Given the description of an element on the screen output the (x, y) to click on. 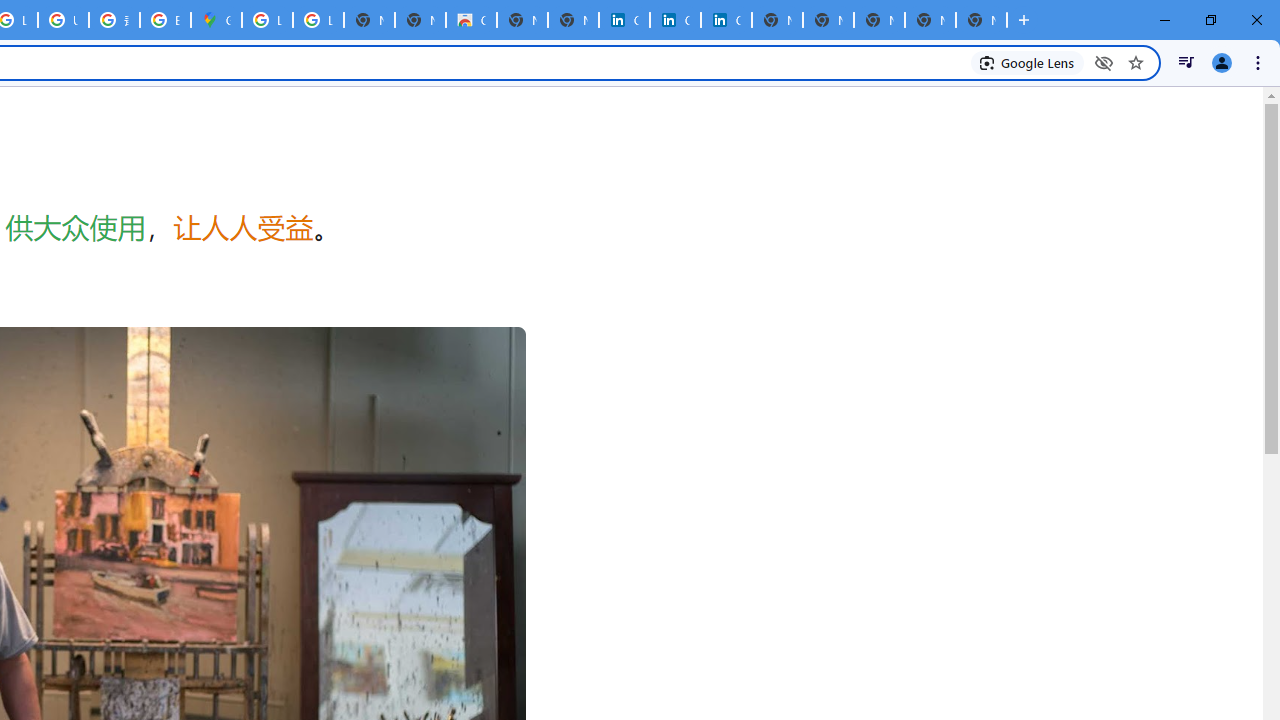
New Tab (981, 20)
Explore new street-level details - Google Maps Help (164, 20)
Chrome Web Store (470, 20)
Search with Google Lens (1027, 62)
Control your music, videos, and more (1185, 62)
Copyright Policy (726, 20)
